Given the description of an element on the screen output the (x, y) to click on. 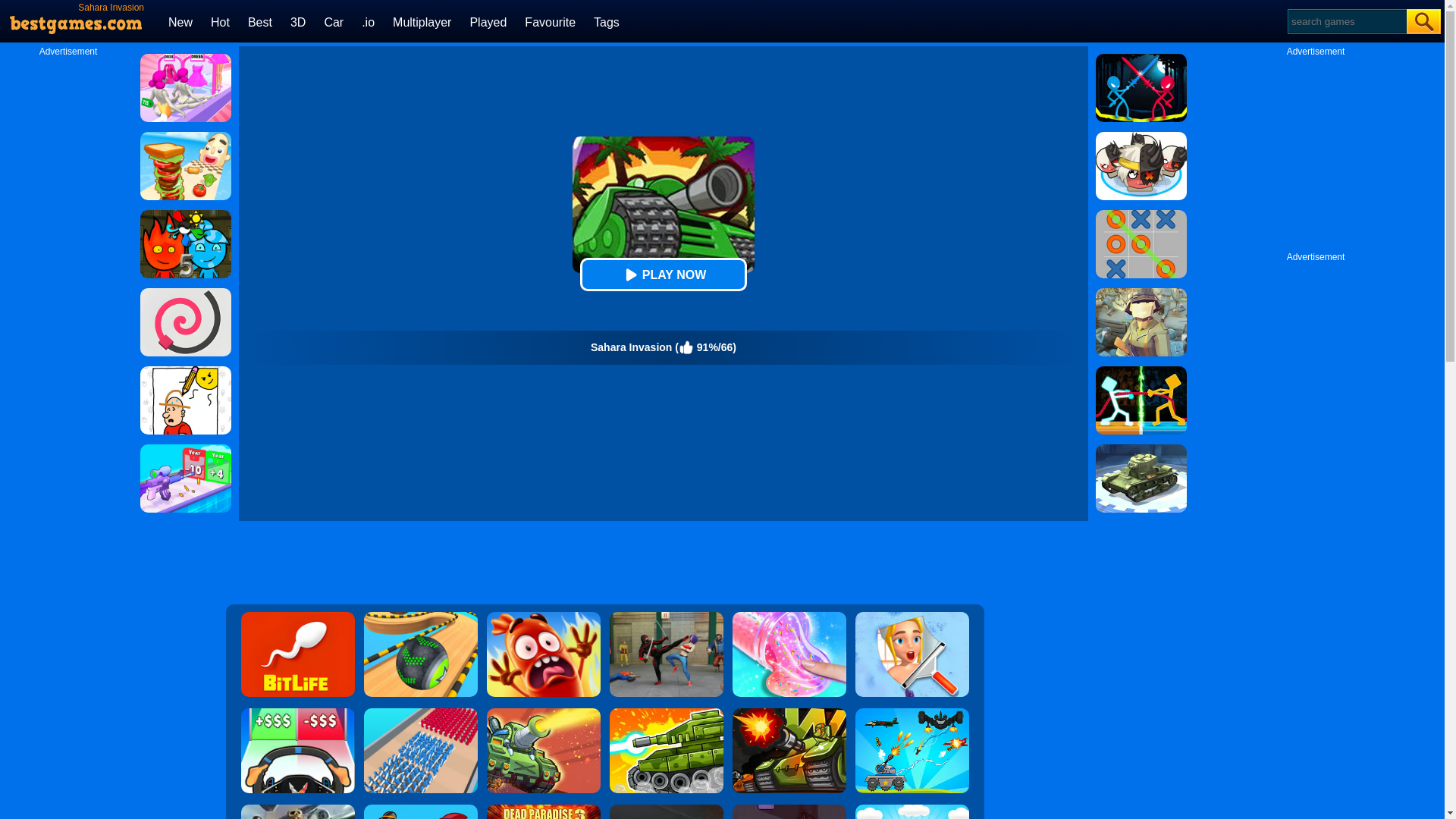
Best (259, 21)
Hot (220, 21)
3D (297, 21)
New (180, 21)
Favourite (549, 21)
Advertisement (1315, 152)
PLAY NOW (662, 274)
Advertisement (603, 562)
Tags (607, 21)
Car (333, 21)
Played (487, 21)
.io (367, 21)
Multiplayer (422, 21)
